Given the description of an element on the screen output the (x, y) to click on. 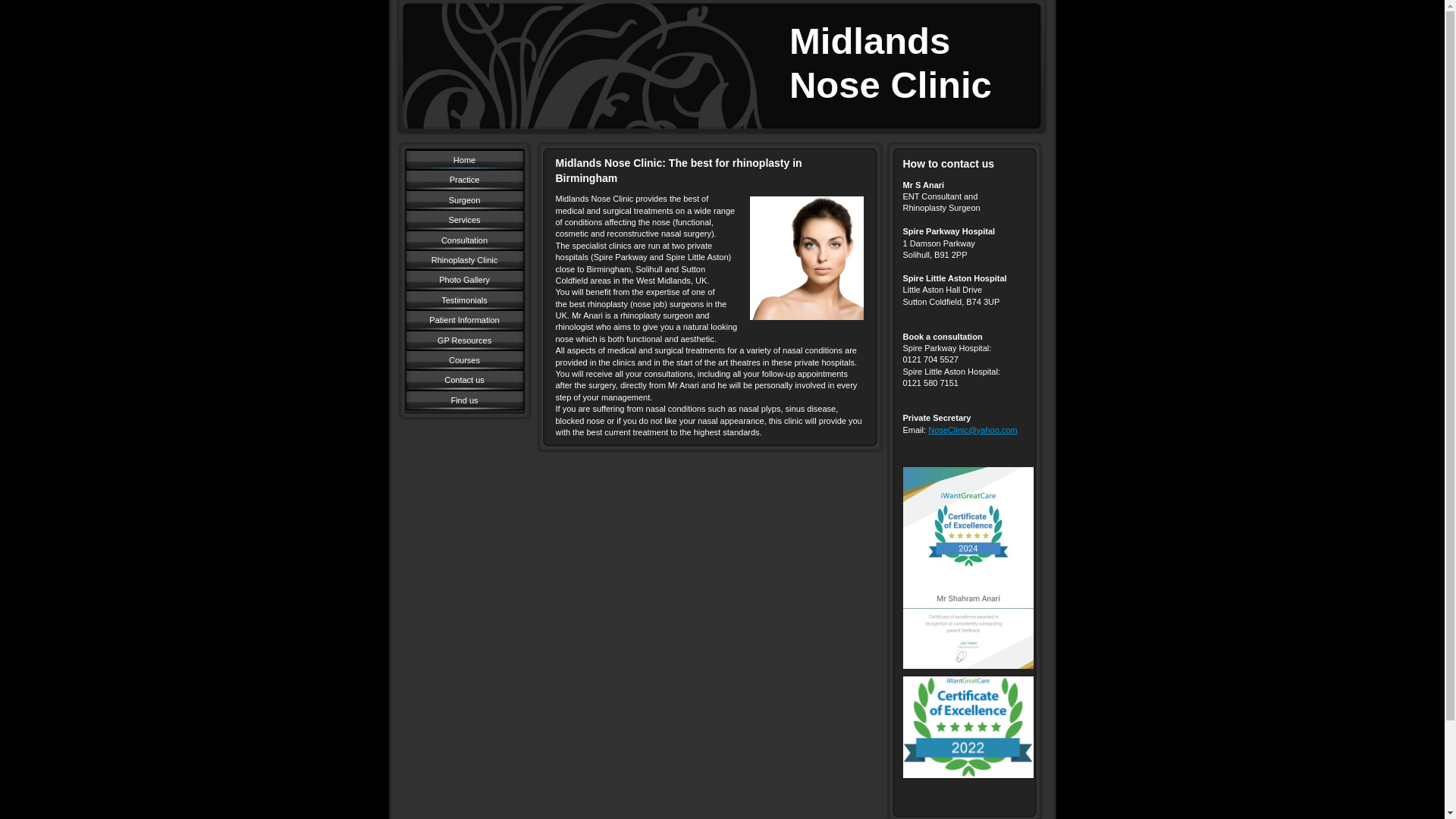
Courses (463, 360)
Testimonials (463, 300)
Find us (463, 400)
Photo Gallery (463, 279)
Practice (463, 179)
GP Resources (463, 340)
Services (463, 219)
Consultation (463, 240)
Home (463, 159)
Surgeon (463, 199)
